Given the description of an element on the screen output the (x, y) to click on. 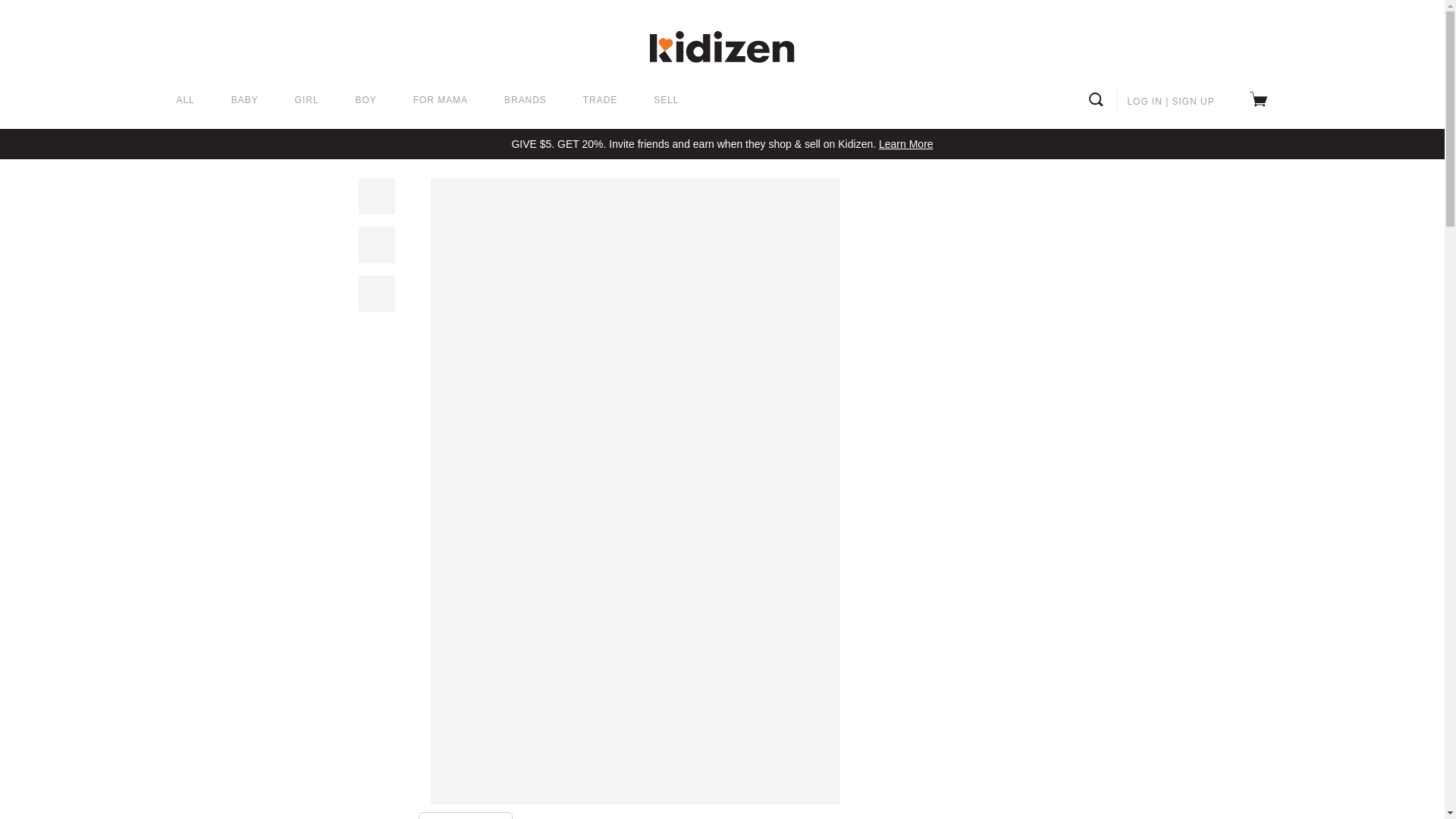
GIRL (306, 100)
TRADE (600, 100)
BOY (365, 100)
BABY (245, 100)
ALL (184, 100)
BRANDS (525, 100)
SELL (665, 100)
LOG IN (1143, 101)
SIGN UP (1193, 101)
FOR MAMA (440, 100)
COMMENT (465, 815)
